Given the description of an element on the screen output the (x, y) to click on. 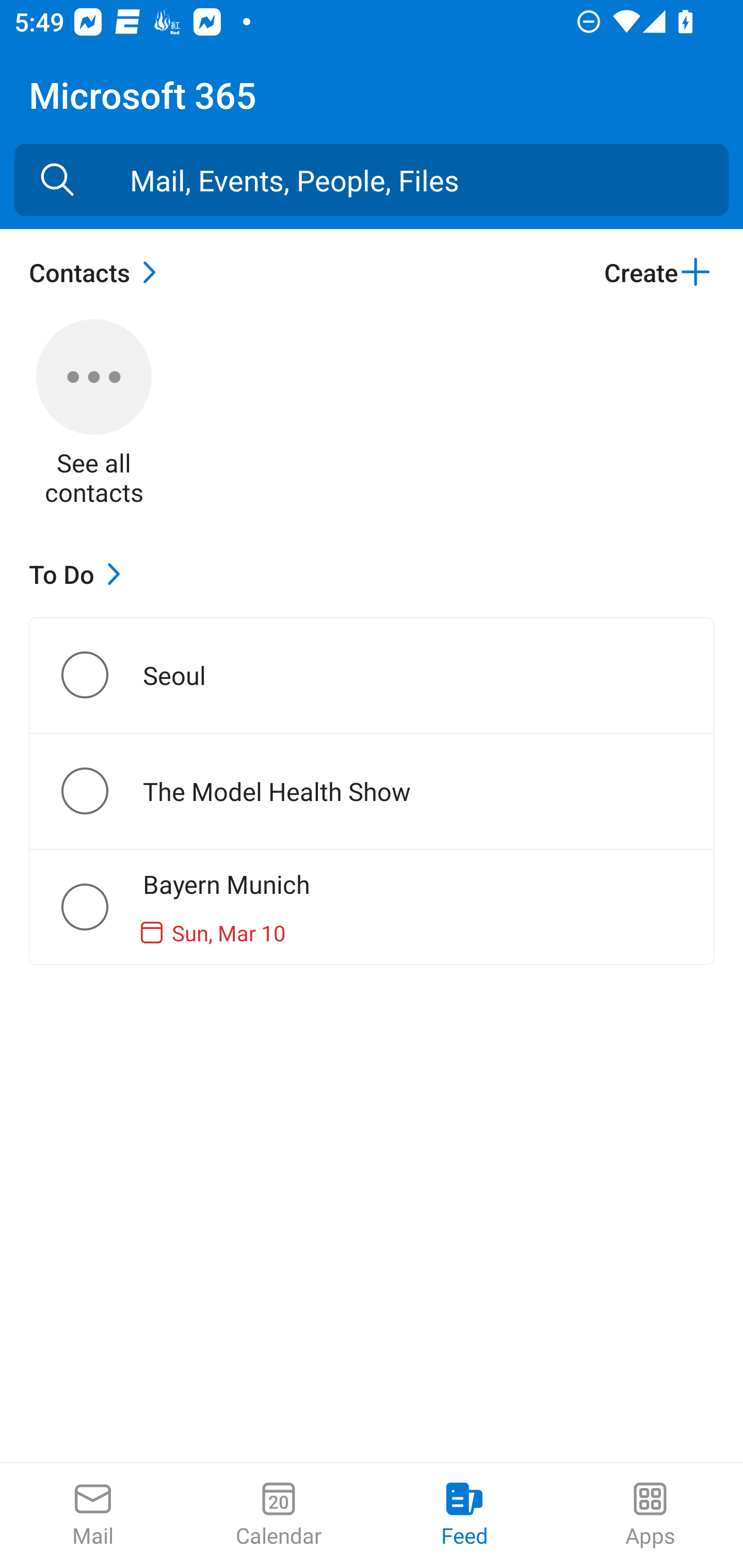
Search for Mail, Events, People, Files (57, 180)
Contacts (97, 271)
Create Create contact (658, 271)
See all contacts (93, 414)
To Do (79, 573)
Seoul Seoul Seoul. not completed (371, 674)
Seoul (101, 674)
The Model Health Show (101, 790)
Bayern Munich (101, 906)
Mail (92, 1515)
Calendar (278, 1515)
Apps (650, 1515)
